Given the description of an element on the screen output the (x, y) to click on. 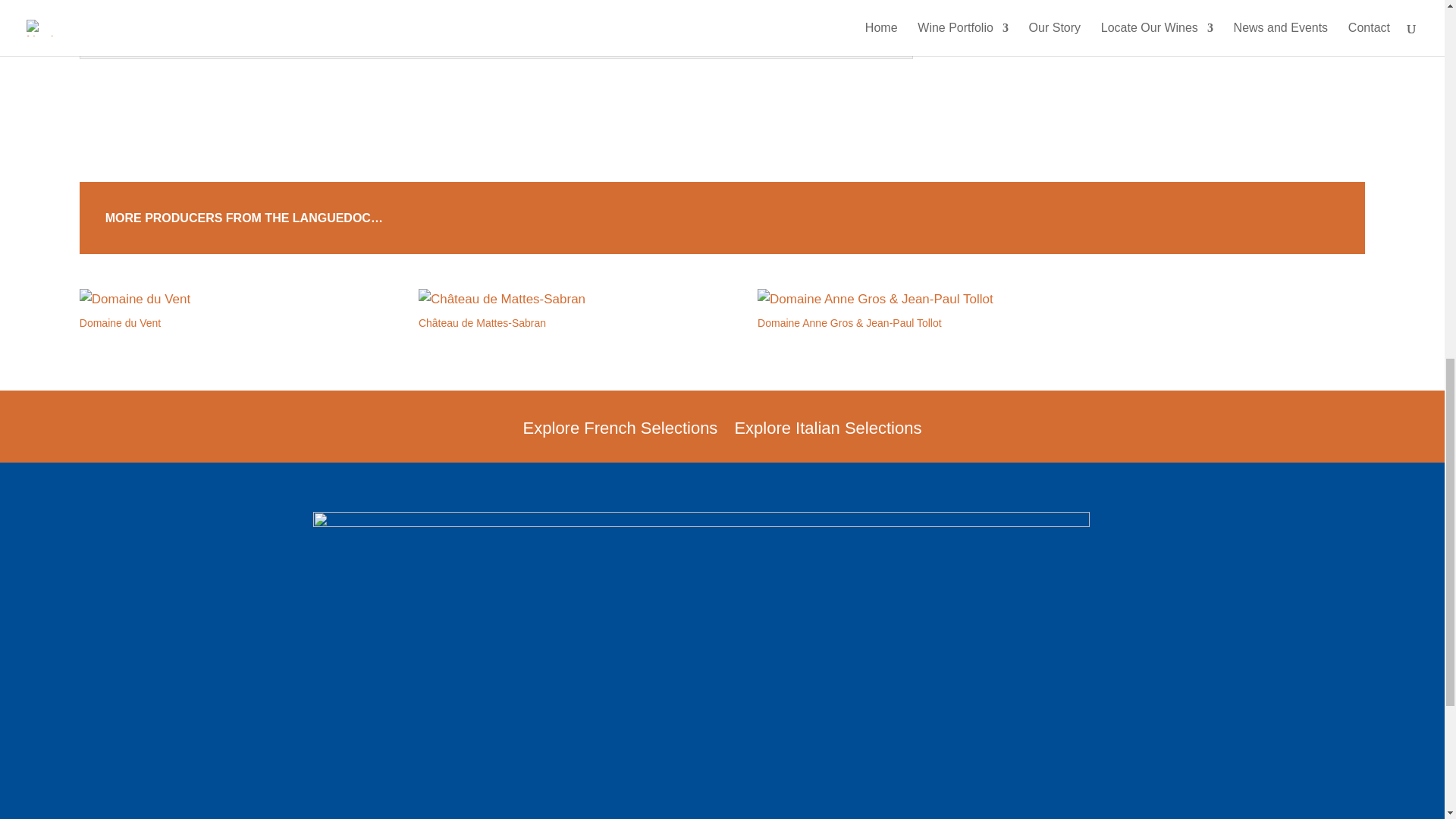
Domaine du Vent (213, 299)
Domaine du Vent (120, 322)
Domaine du Vent (120, 322)
Explore Italian Selections (827, 438)
Explore French Selections (619, 438)
